Given the description of an element on the screen output the (x, y) to click on. 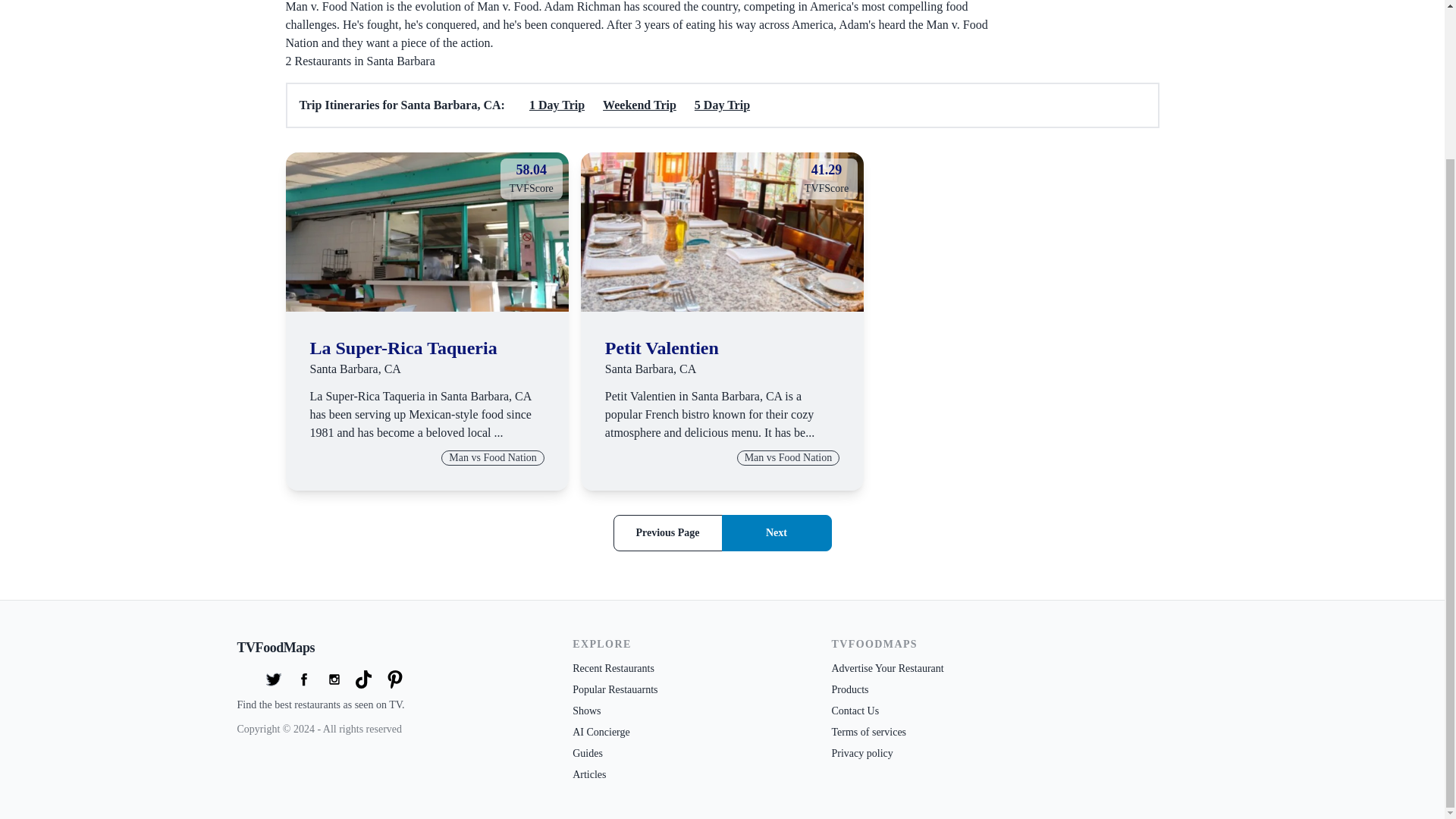
La Super-Rica Taqueria (721, 232)
Petit Valentien (402, 347)
La Super-Rica Taqueria (662, 347)
Santa Barbara, CA (426, 232)
1 Day Trip (402, 347)
Previous Page (650, 368)
Weekend Trip (557, 105)
Petit Valentien (667, 533)
TVFoodMaps (639, 105)
La Super-Rica Taqueria (721, 232)
Next (332, 647)
Man vs Food Nation (426, 232)
5 Day Trip (776, 533)
